Given the description of an element on the screen output the (x, y) to click on. 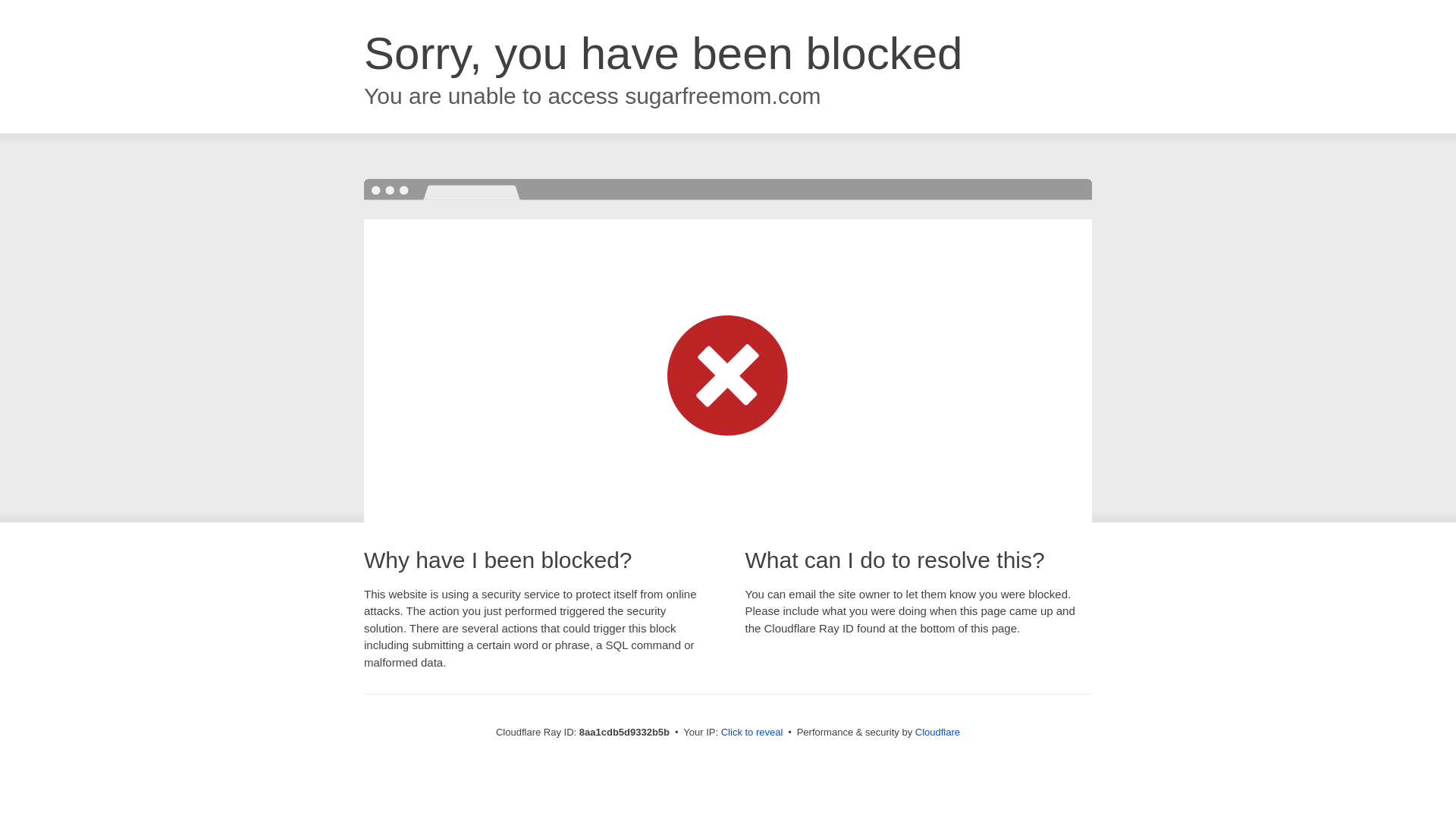
Cloudflare (937, 731)
Click to reveal (751, 732)
